Given the description of an element on the screen output the (x, y) to click on. 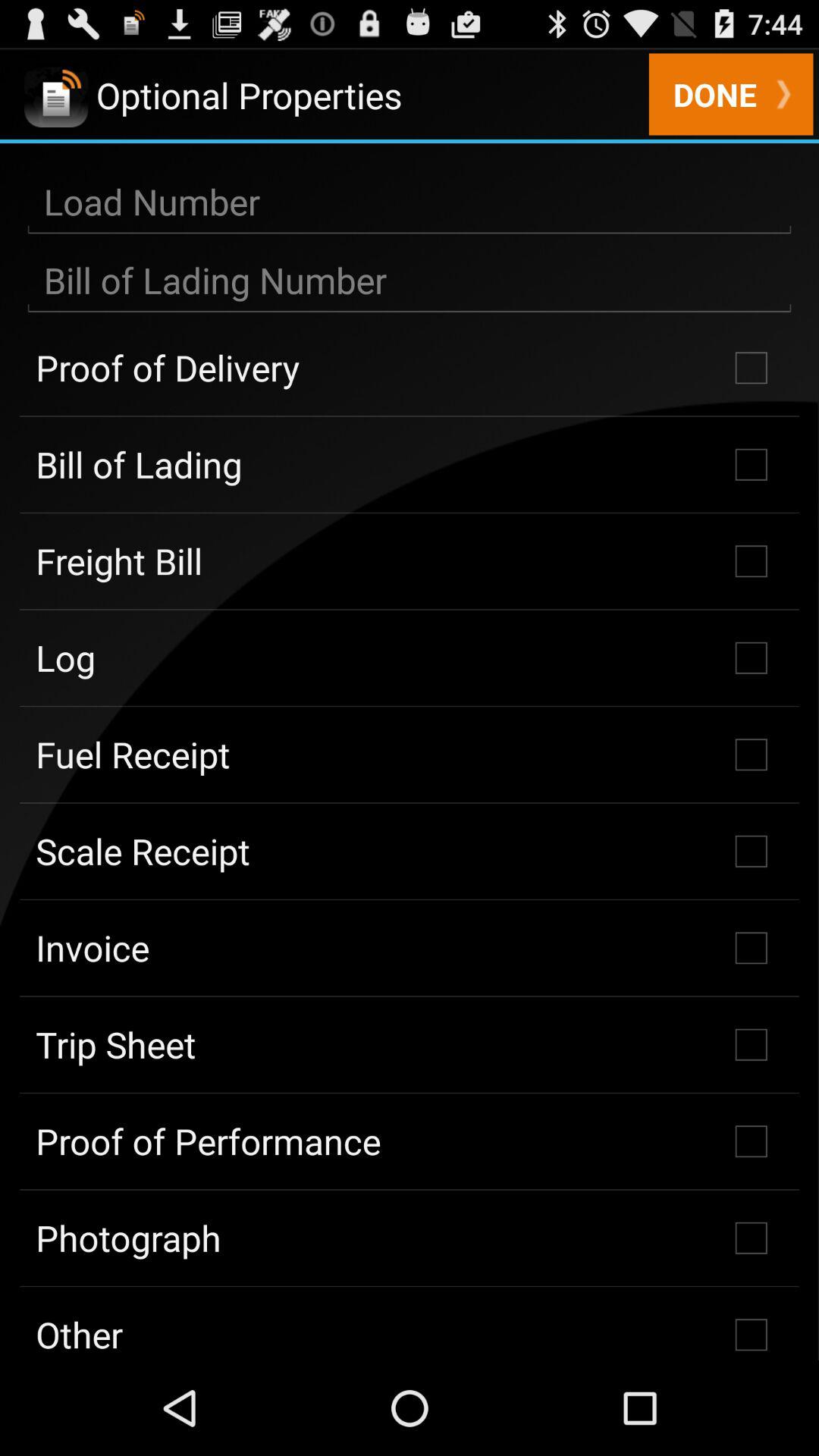
put the number in (409, 280)
